Given the description of an element on the screen output the (x, y) to click on. 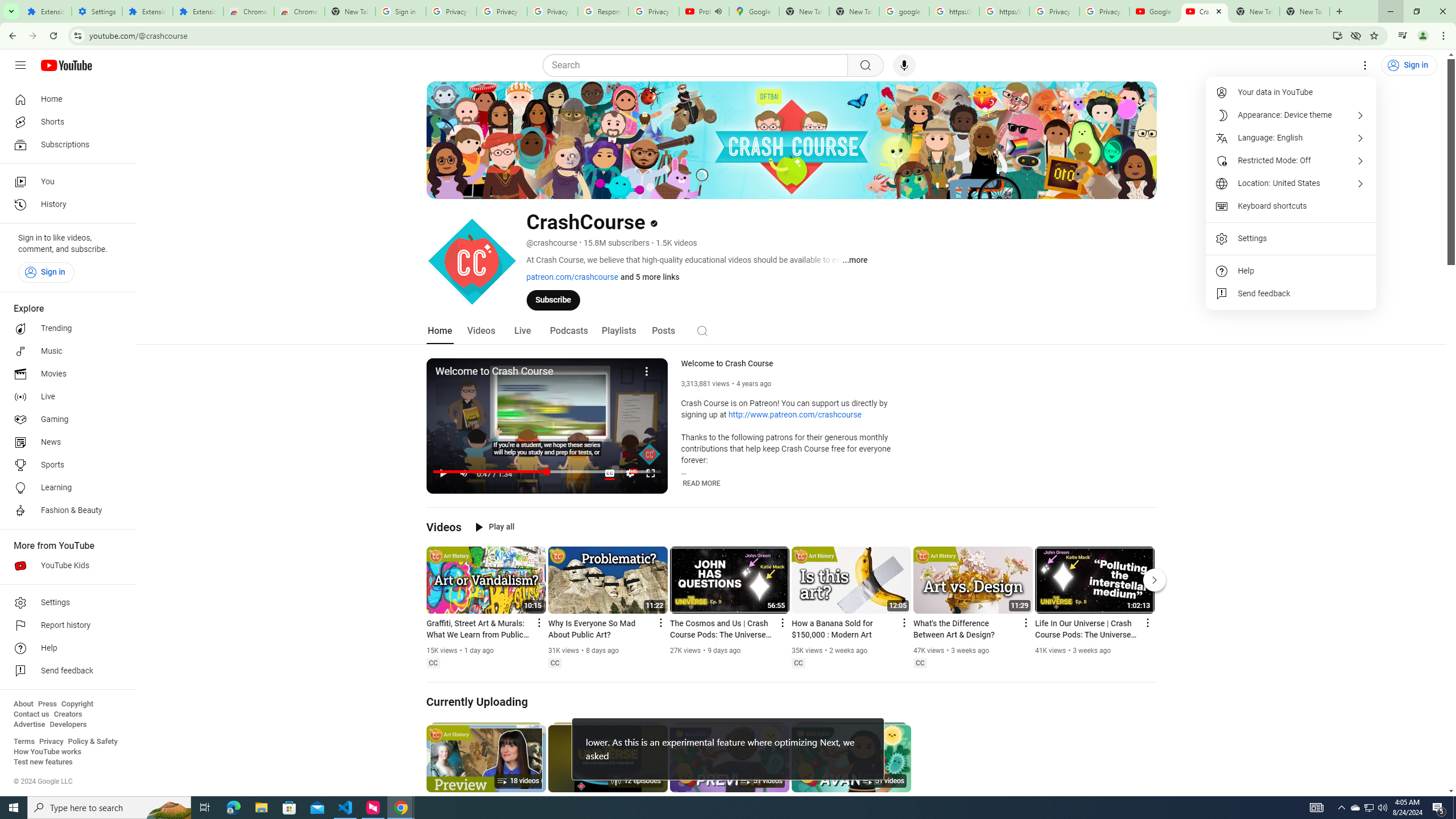
YouTube Home (66, 65)
Play all (494, 526)
Location: United States (1291, 182)
Currently Uploading (477, 701)
Channel watermark (649, 454)
Sports (64, 464)
Press (46, 703)
Contact us (31, 714)
Playlists (618, 330)
Install YouTube (1336, 35)
Pause (k) (443, 472)
